Given the description of an element on the screen output the (x, y) to click on. 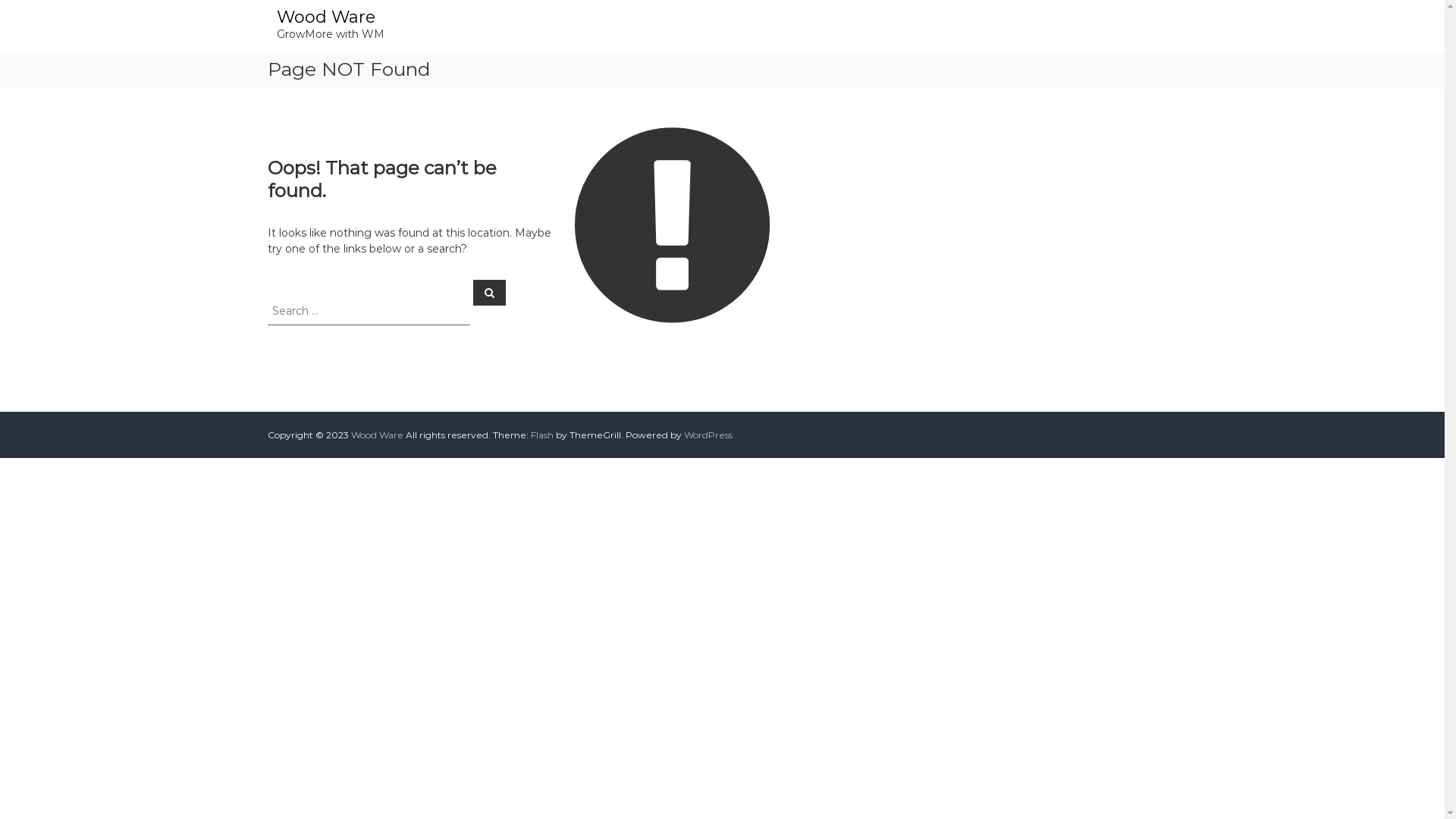
Flash Element type: text (541, 434)
Wood Ware Element type: text (325, 16)
WordPress Element type: text (708, 434)
Wood Ware Element type: text (376, 434)
Search Element type: text (489, 291)
